Given the description of an element on the screen output the (x, y) to click on. 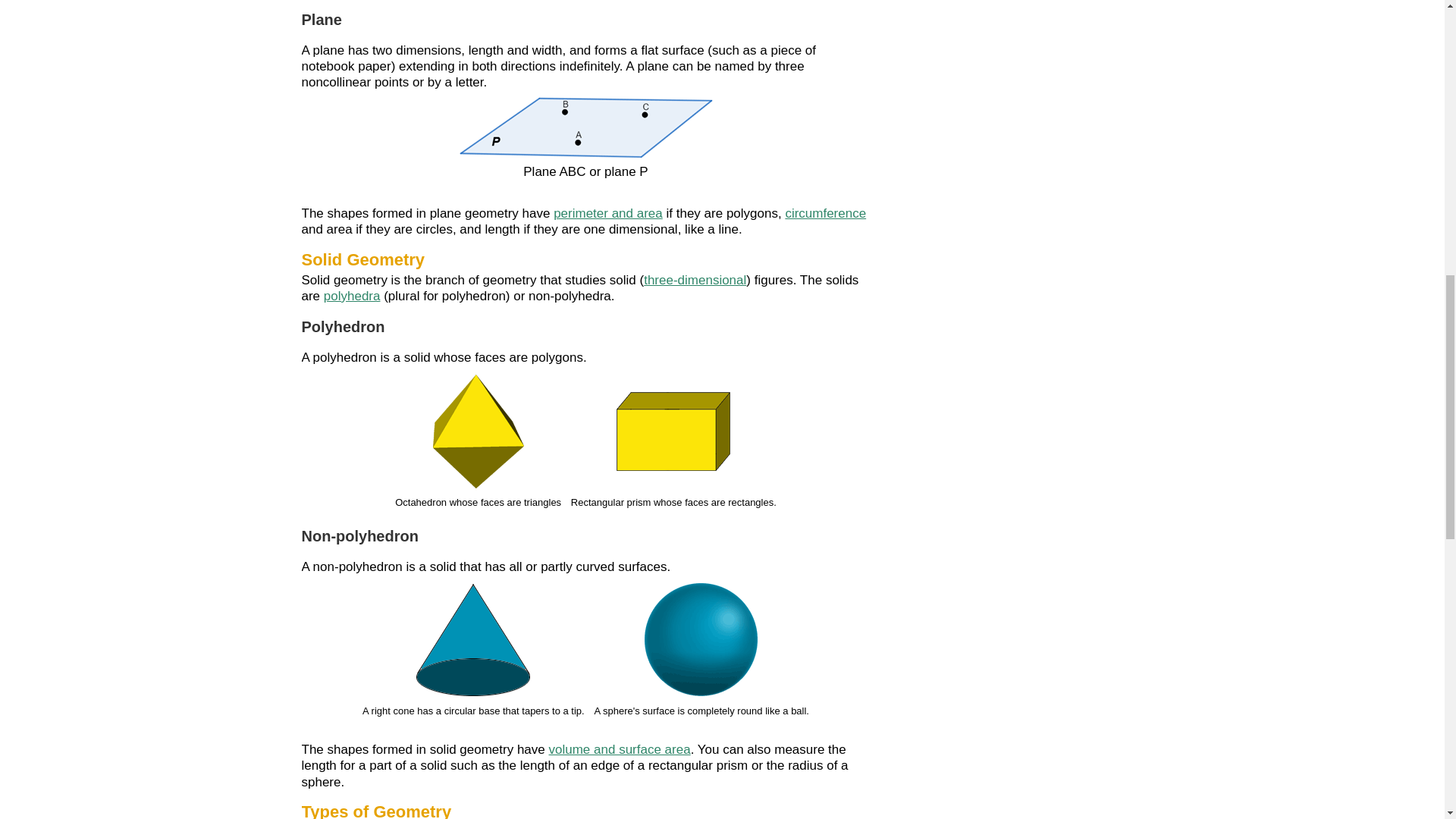
circumference (825, 213)
volume and surface area (619, 749)
three-dimensional (694, 279)
perimeter and area (607, 213)
polyhedra (351, 296)
